Given the description of an element on the screen output the (x, y) to click on. 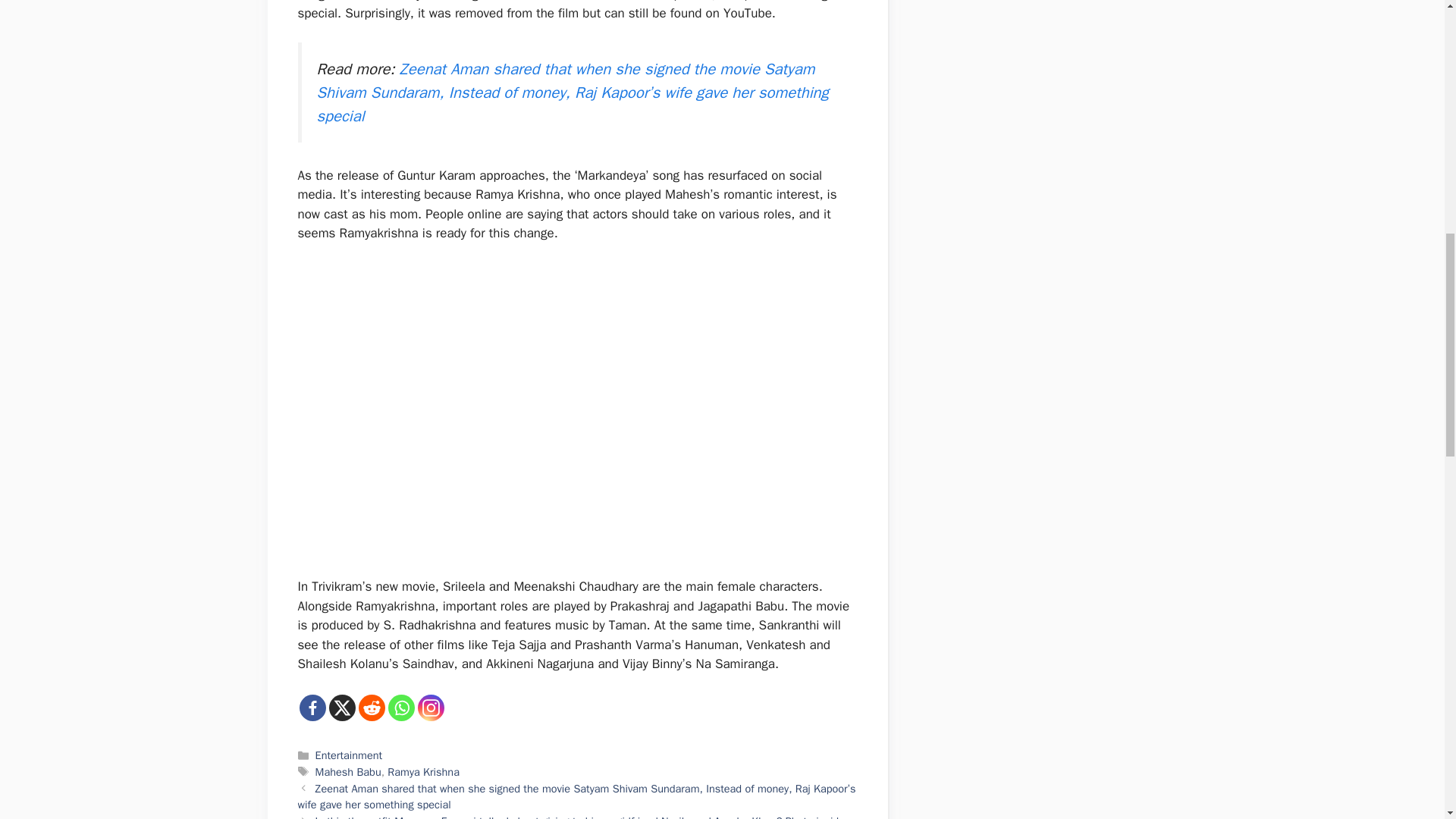
Mahesh Babu (348, 771)
Facebook (311, 707)
Entertainment (348, 755)
Ramya Krishna (423, 771)
Reddit (371, 707)
X (342, 707)
Whatsapp (401, 707)
Instagram (430, 707)
